Given the description of an element on the screen output the (x, y) to click on. 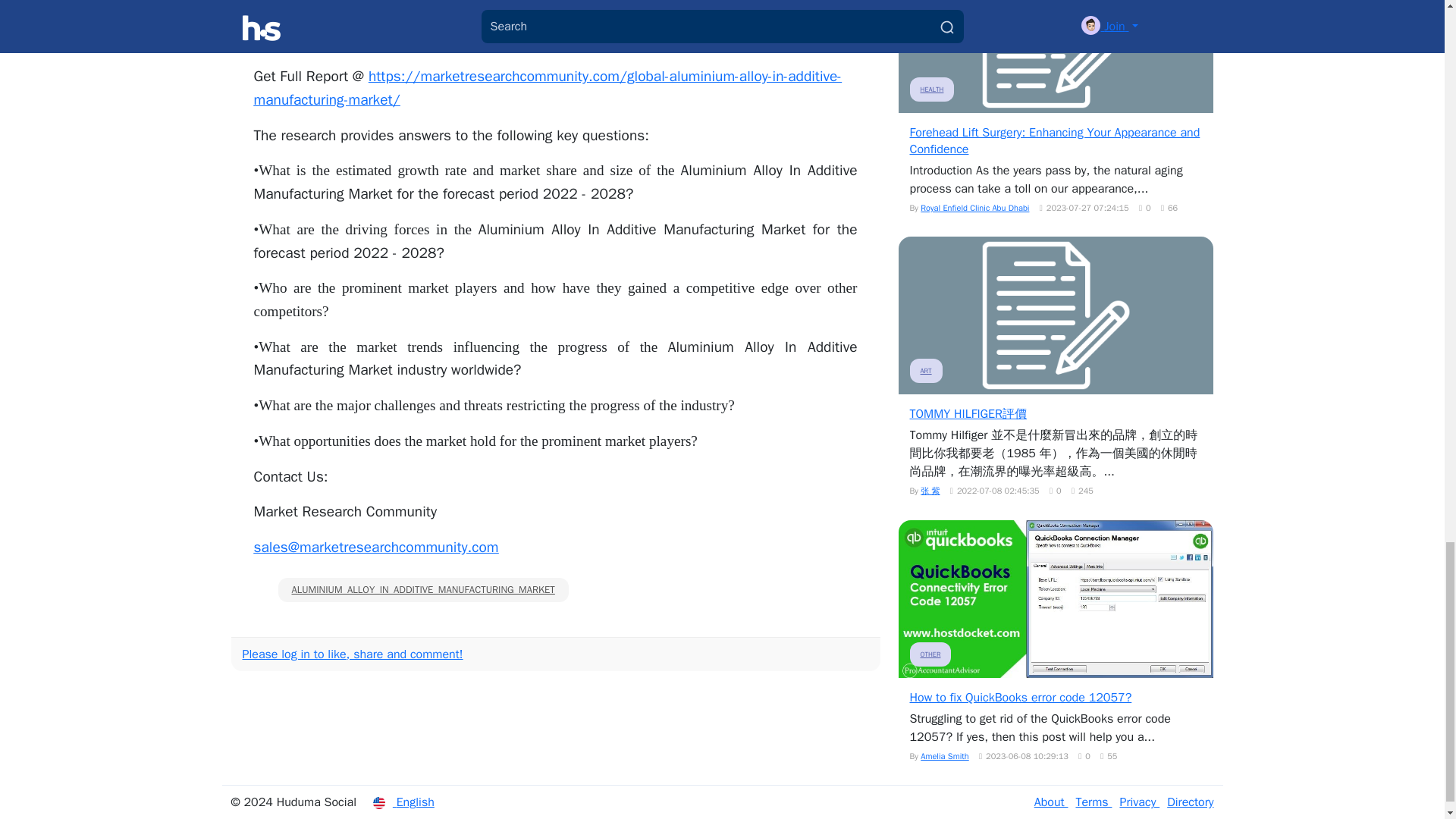
Please log in to like, share and comment! (353, 654)
